Given the description of an element on the screen output the (x, y) to click on. 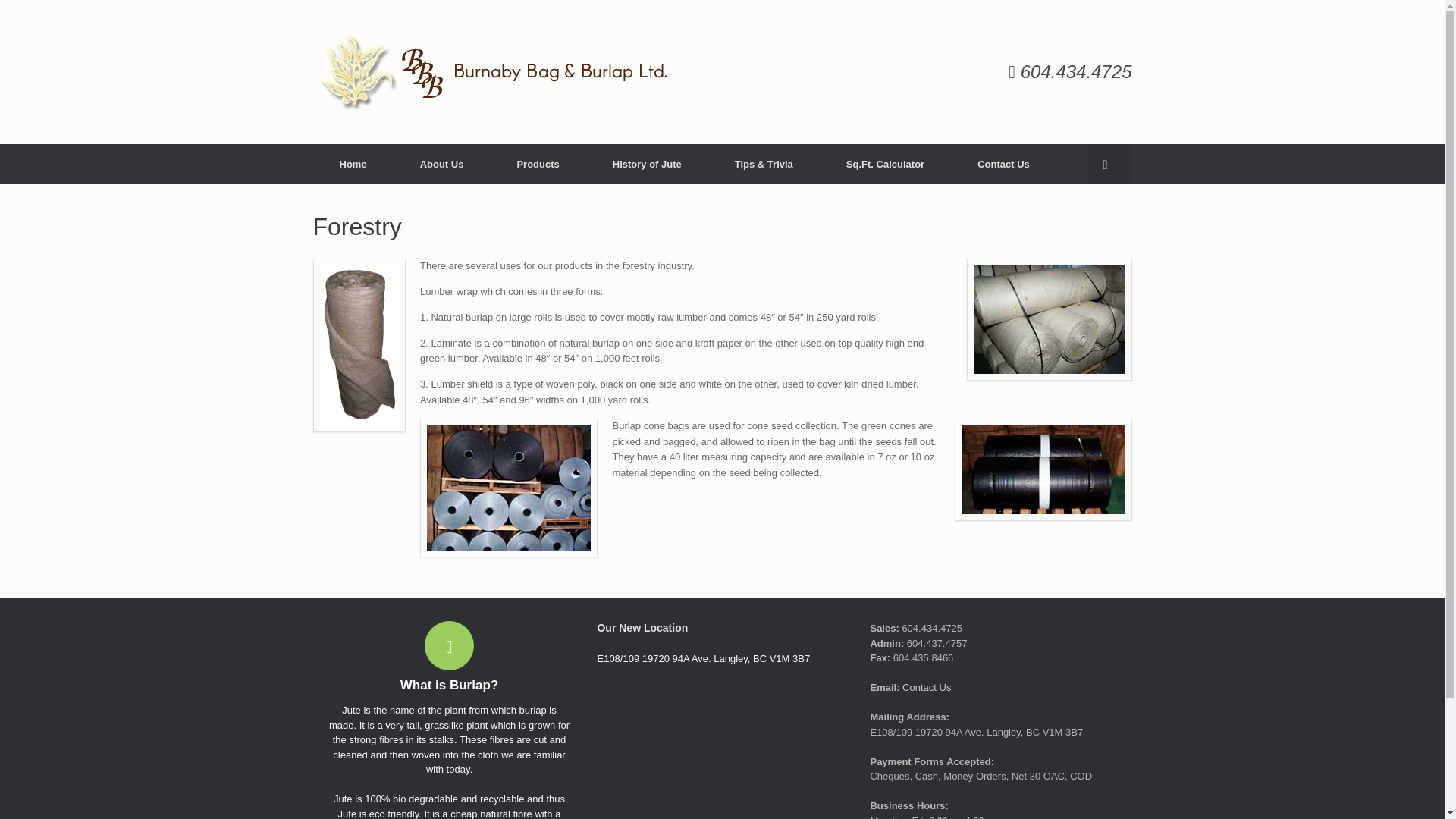
About Us (441, 164)
History of Jute (646, 164)
Home (353, 164)
Sq.Ft. Calculator (884, 164)
Contact Us (1003, 164)
Products (537, 164)
Contact Us (926, 686)
